Given the description of an element on the screen output the (x, y) to click on. 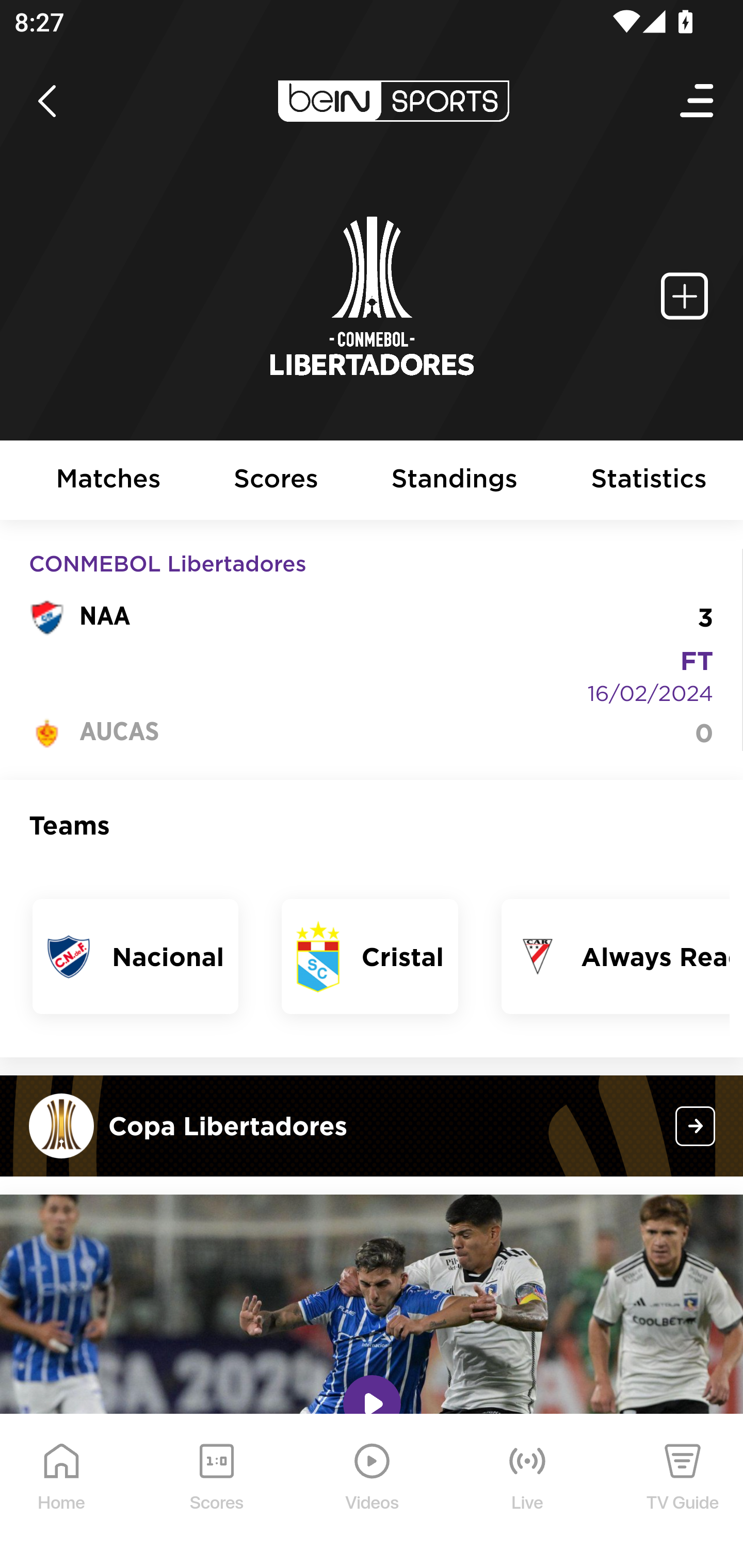
en-us?platform=mobile_android bein logo white (392, 101)
icon back (46, 101)
Open Menu Icon (697, 101)
Matches (107, 480)
Scores (275, 480)
Standings (454, 480)
Statistics (649, 480)
Nacional Nacional Nacional (135, 956)
Cristal Cristal Cristal (370, 956)
Always Ready Always Ready Always Ready (615, 956)
conmebol-libertadores?platform=mobile_android (695, 1125)
Home Home Icon Home (61, 1491)
Scores Scores Icon Scores (216, 1491)
Videos Videos Icon Videos (372, 1491)
TV Guide TV Guide Icon TV Guide (682, 1491)
